Given the description of an element on the screen output the (x, y) to click on. 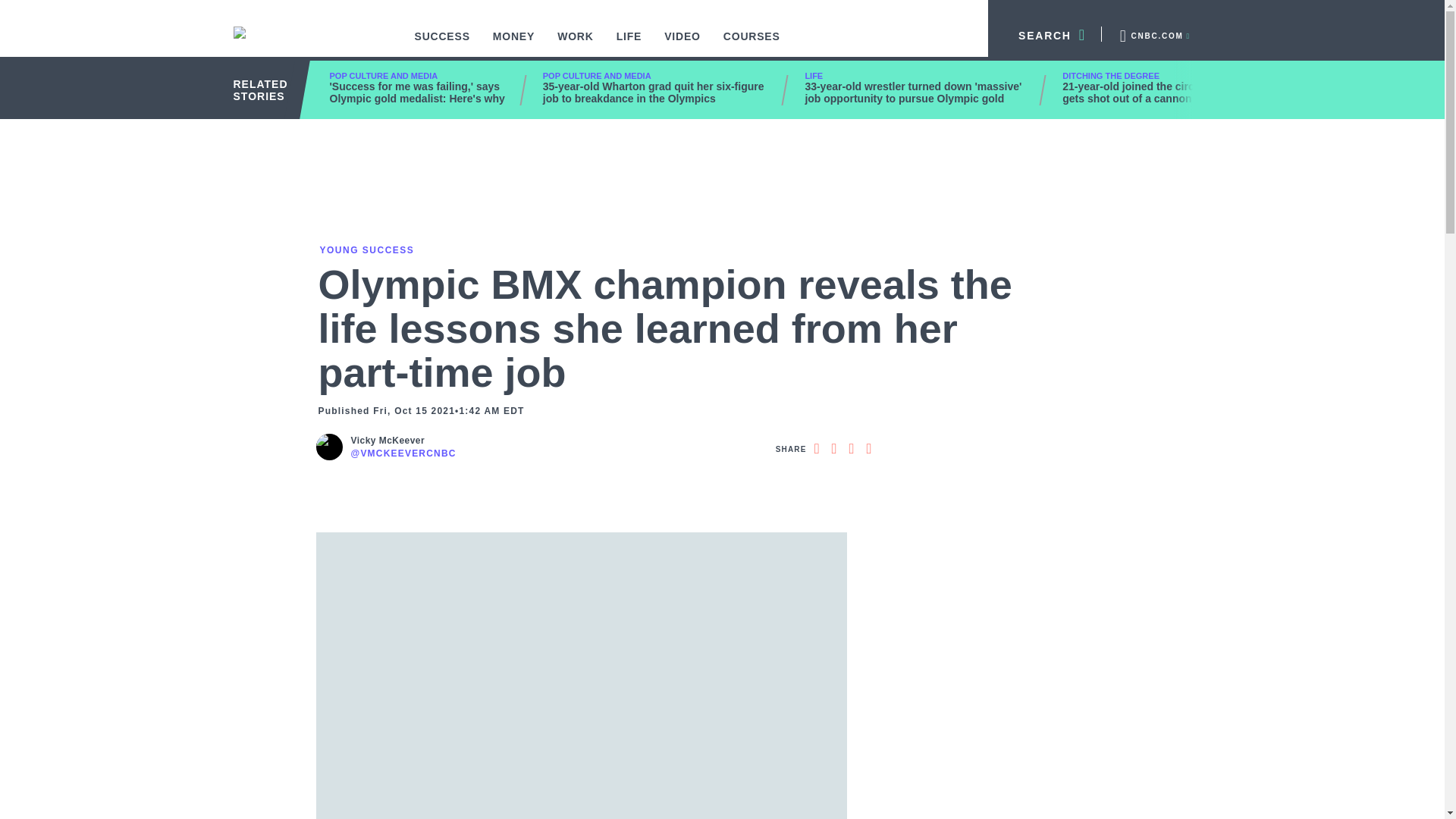
SEARCH (1045, 33)
YOUNG SUCCESS (365, 249)
LIFE (629, 44)
SUCCESS (442, 44)
WORK (575, 44)
CNBC.COM (1153, 33)
VIDEO (681, 44)
COURSES (751, 44)
Vicky McKeever (402, 440)
MONEY (513, 44)
